Given the description of an element on the screen output the (x, y) to click on. 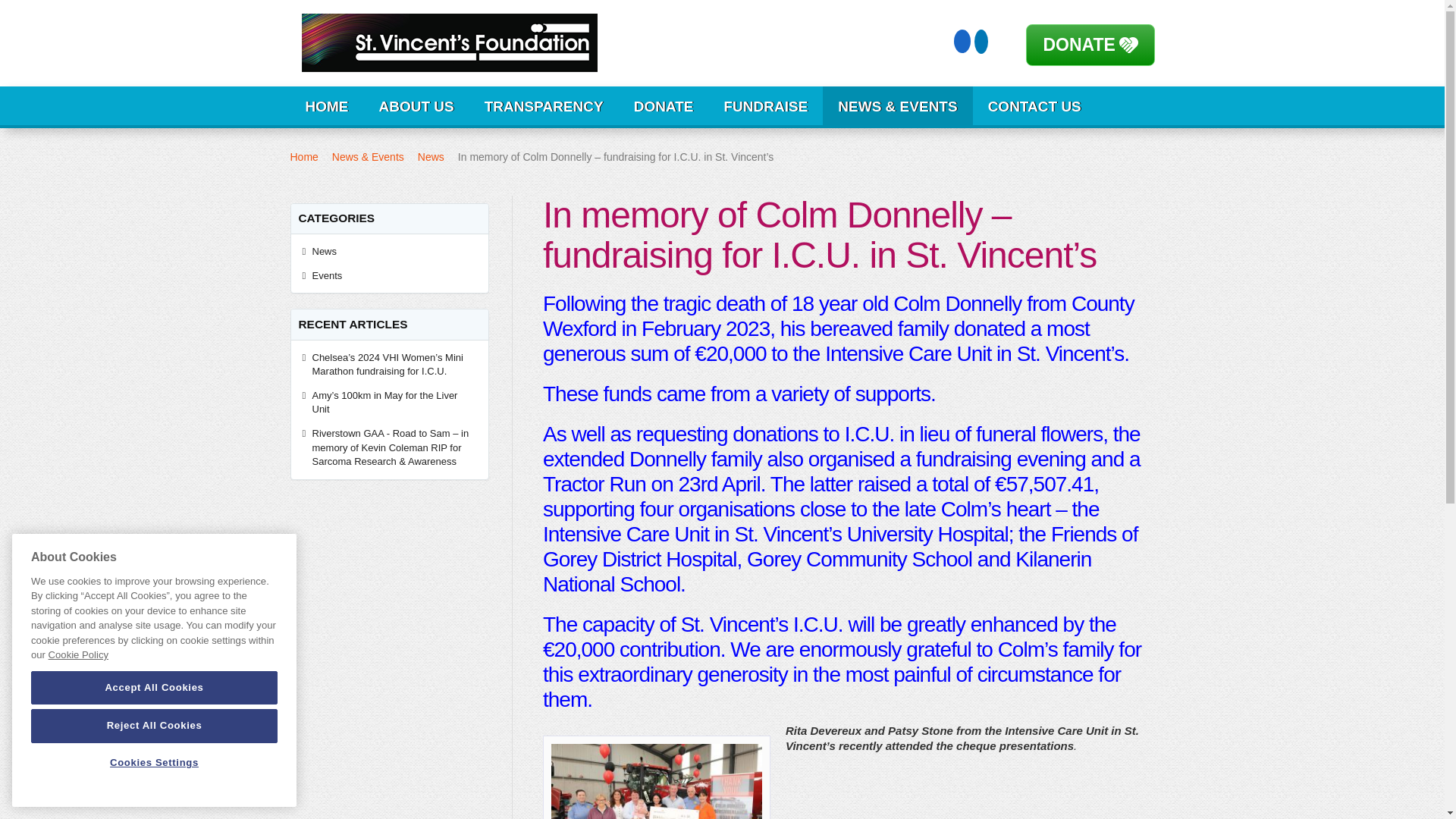
TRANSPARENCY (543, 105)
FUNDRAISE (764, 105)
Go to St. Vincent's Foundation. (303, 156)
DONATE (1079, 44)
DONATE (663, 105)
Go to the News category archives. (430, 156)
ABOUT US (416, 105)
HOME (325, 105)
